Given the description of an element on the screen output the (x, y) to click on. 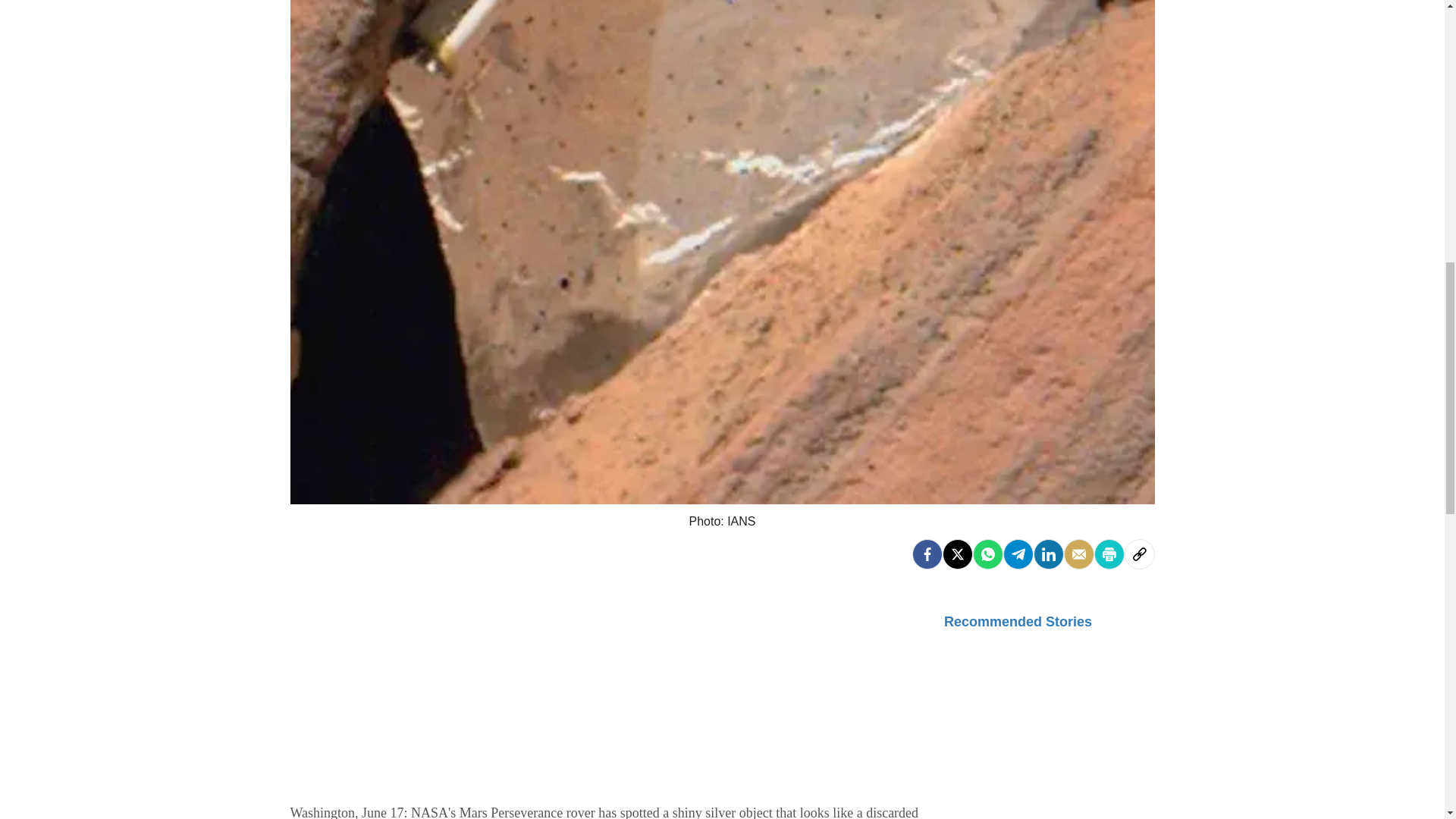
Share by Email (1077, 553)
LinkedIn (1047, 553)
